Given the description of an element on the screen output the (x, y) to click on. 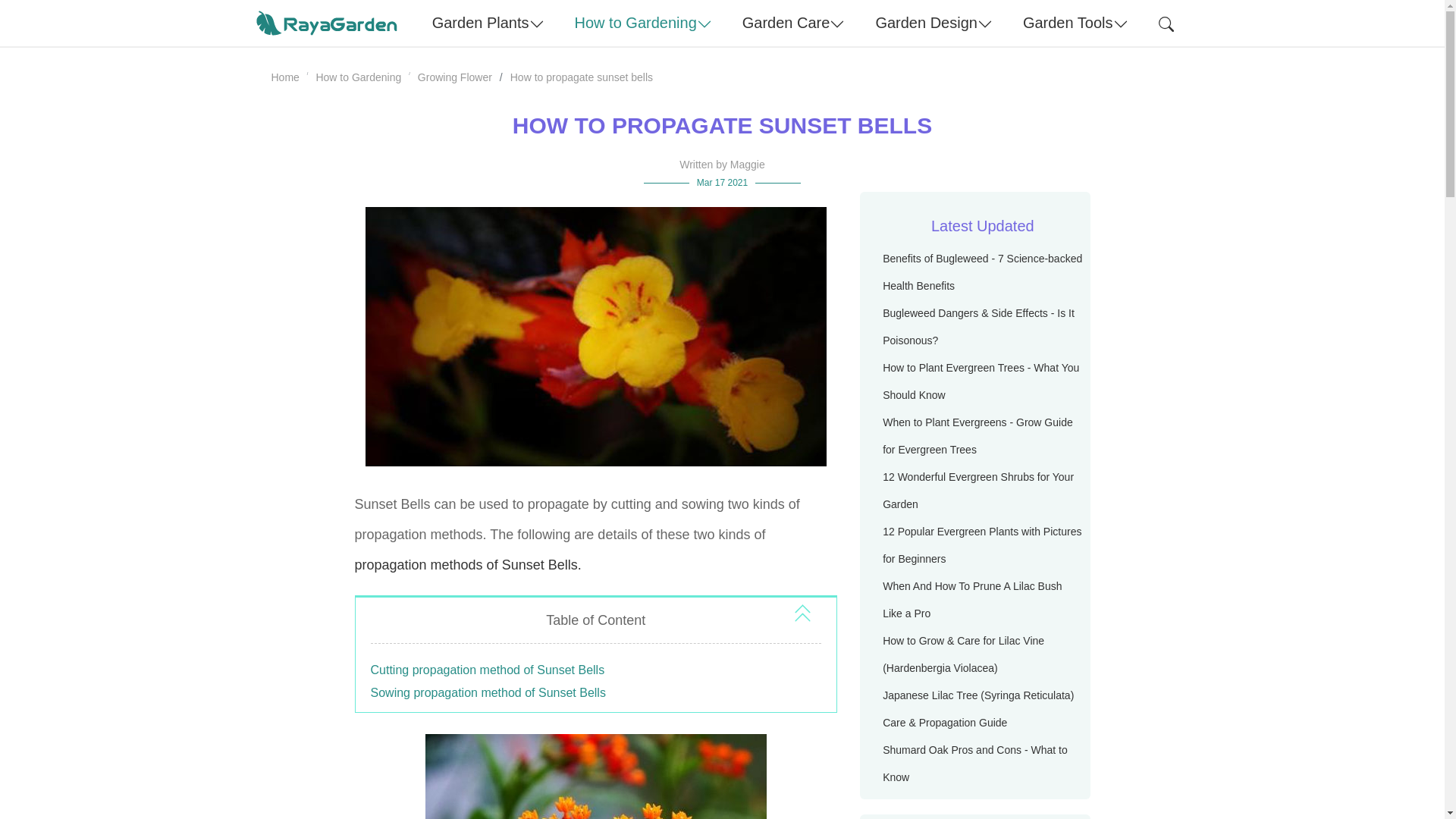
How to Gardening (642, 23)
Garden Care (793, 23)
Garden Design (933, 23)
Garden Plants (487, 23)
